Given the description of an element on the screen output the (x, y) to click on. 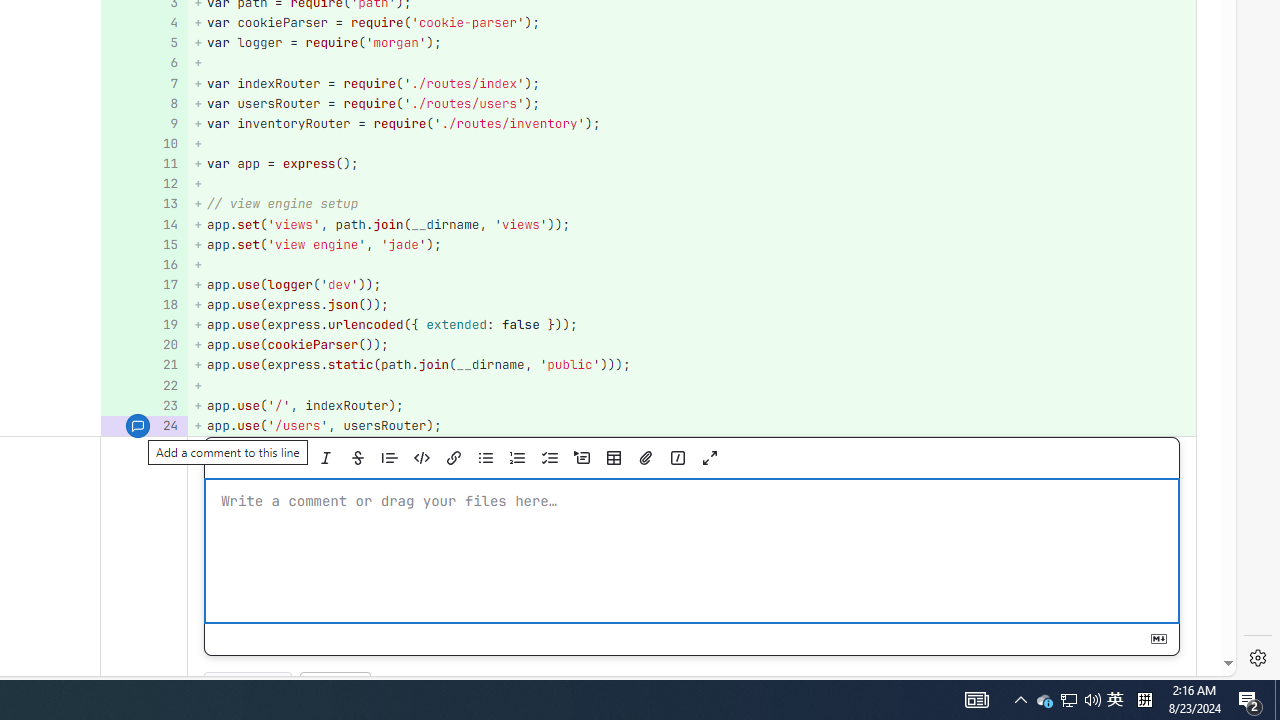
21 (141, 364)
Class: notes_line new (144, 576)
Add a comment to this line 5 (144, 43)
16 (141, 264)
Class: s16 gl-icon gl-button-icon  (1158, 639)
Insert code (421, 457)
Add a comment to this line 16 (144, 264)
Add a comment to this line 8 (144, 102)
Add a comment to this line 17 (144, 284)
Add a comment to this line 12 (144, 184)
Add a comment to this line 19 (144, 325)
Add a comment to this line 10 (144, 143)
12 (141, 184)
+ app.use(express.json());  (691, 305)
